Given the description of an element on the screen output the (x, y) to click on. 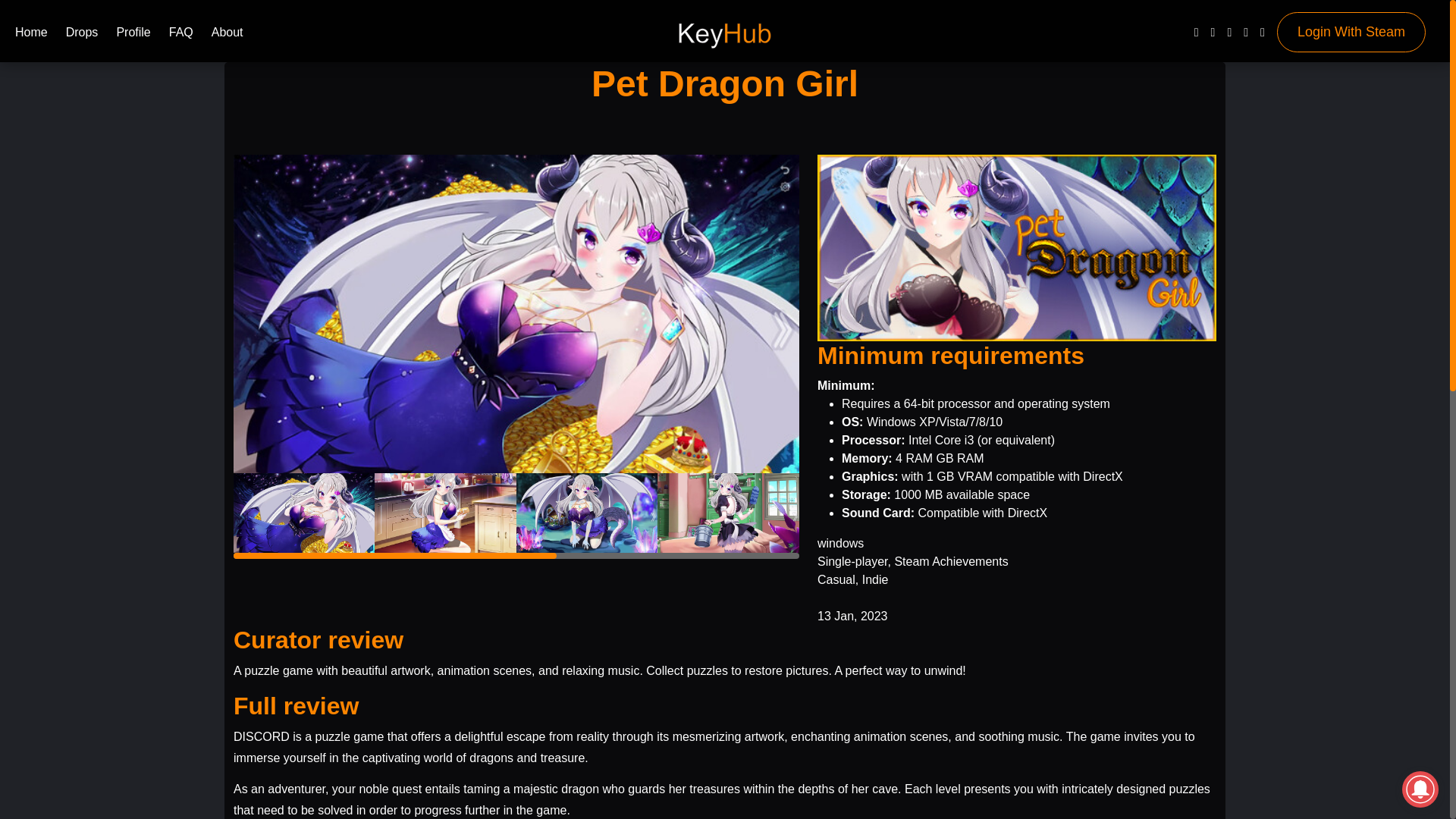
About (227, 35)
FAQ (180, 35)
Drops (82, 35)
Login With Steam (1350, 32)
Profile (132, 35)
Home (31, 35)
